Given the description of an element on the screen output the (x, y) to click on. 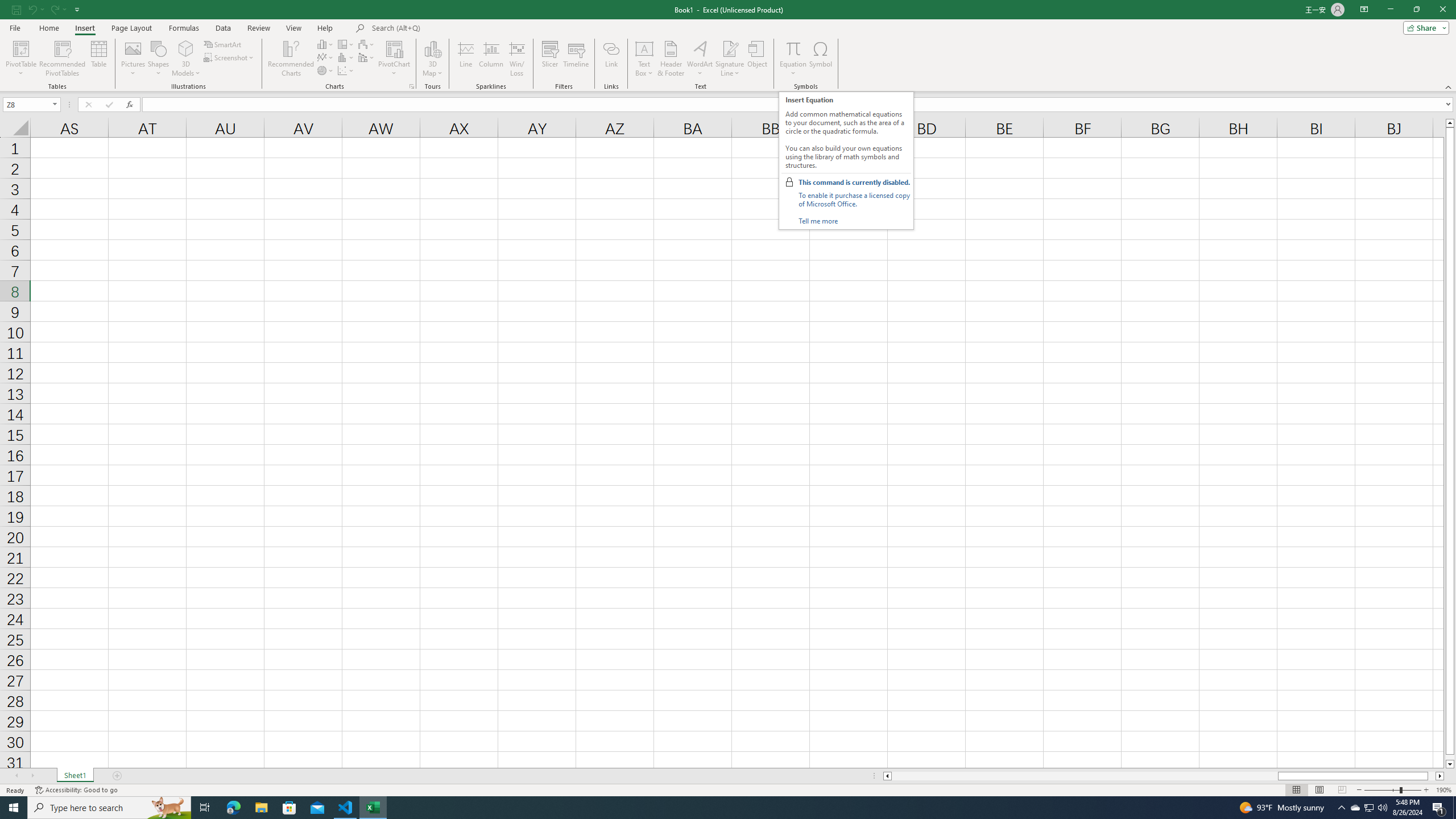
Insert Scatter (X, Y) or Bubble Chart (346, 69)
Signature Line (729, 58)
Recommended PivotTables (62, 58)
Win/Loss (516, 58)
